Given the description of an element on the screen output the (x, y) to click on. 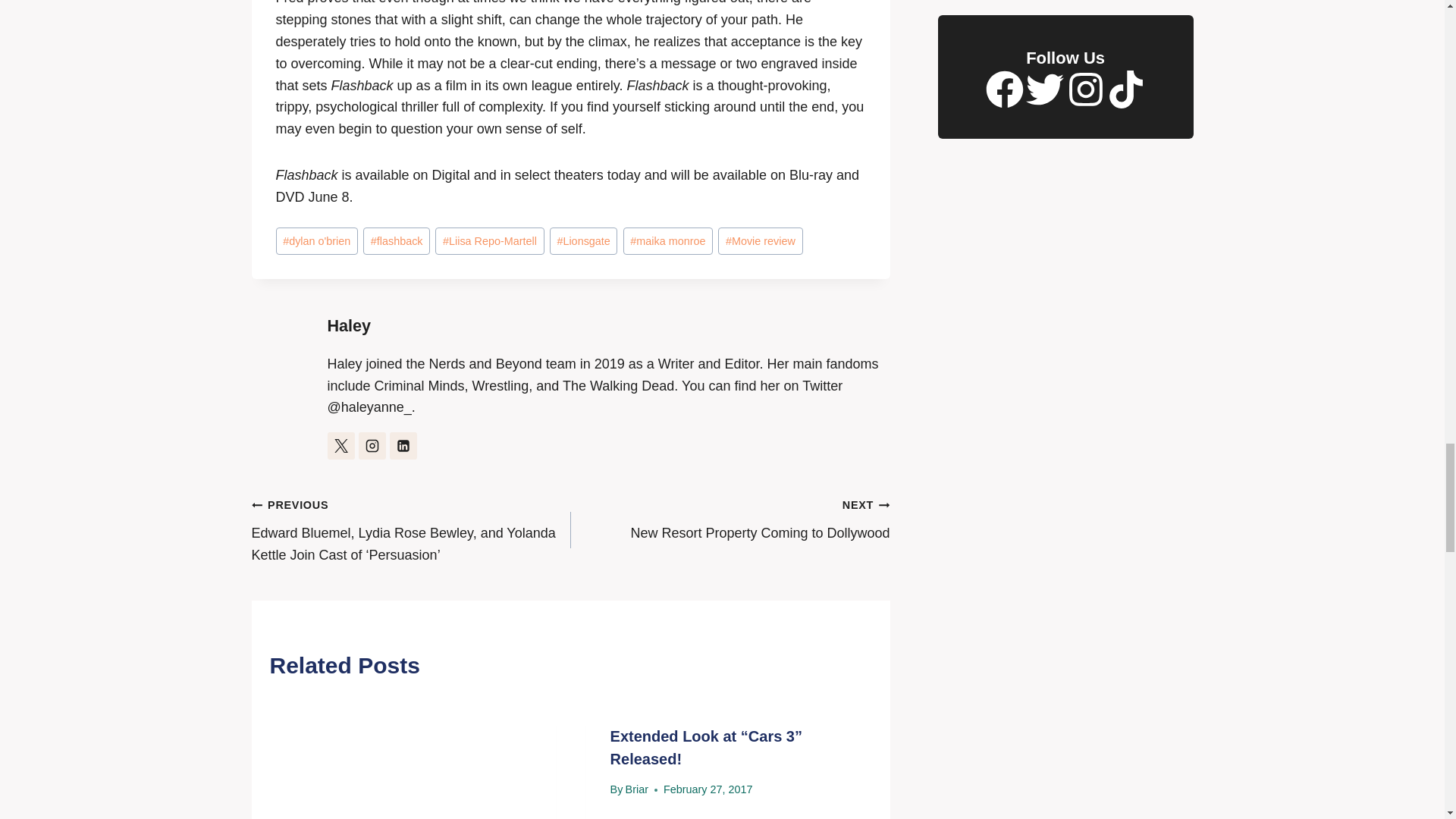
maika monroe (668, 241)
Posts by Haley (349, 325)
Follow Haley on Instagram (371, 445)
Follow Haley on X formerly Twitter (341, 445)
dylan o'brien (317, 241)
flashback (395, 241)
Liisa Repo-Martell (489, 241)
Lionsgate (583, 241)
Movie review (759, 241)
Follow Haley on Linkedin (403, 445)
